Given the description of an element on the screen output the (x, y) to click on. 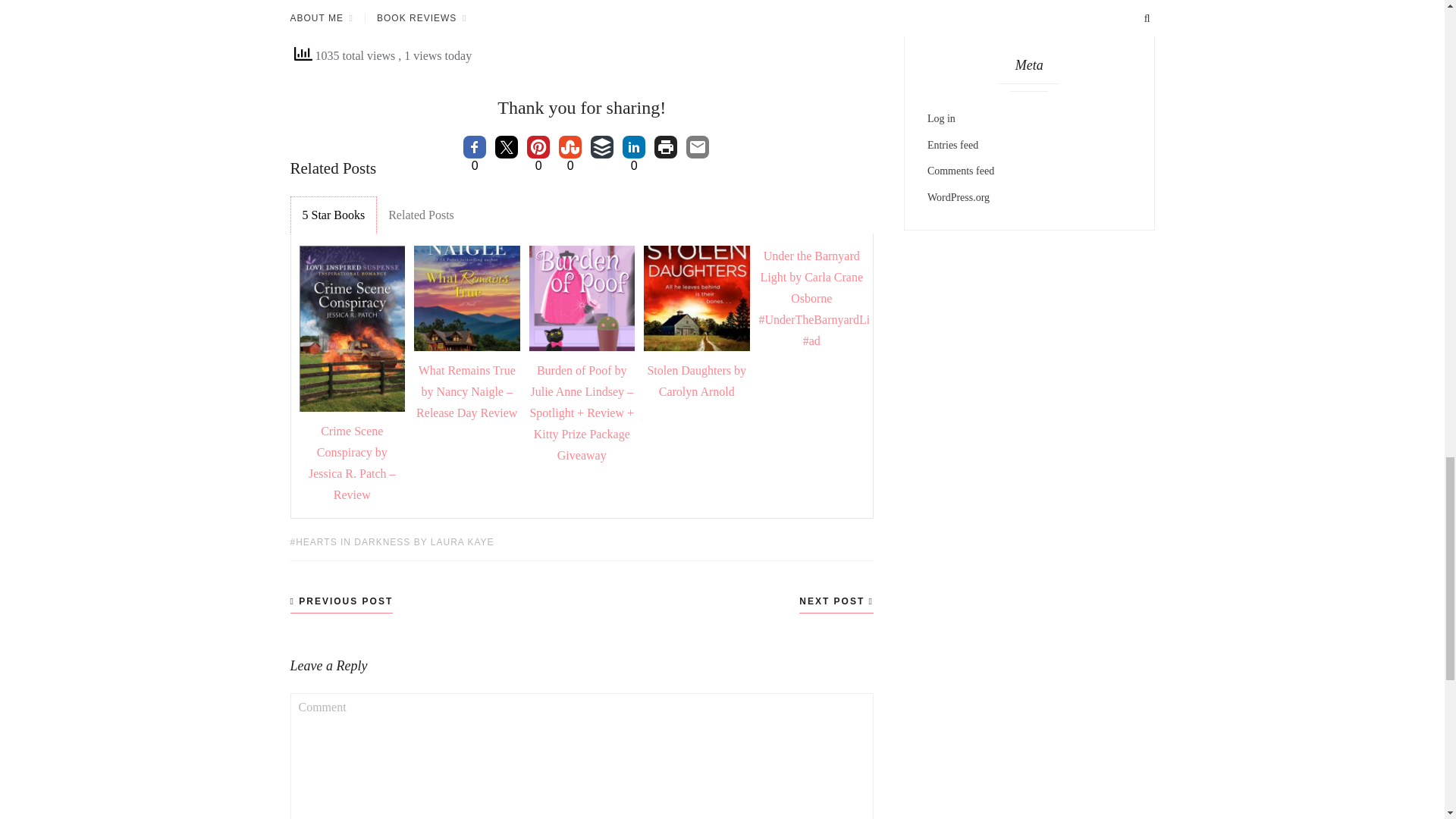
0 (538, 146)
Stolen Daughters by Carolyn Arnold (696, 381)
0 (634, 146)
0 (569, 146)
0 (474, 146)
5 Star Books (334, 215)
Related Posts (421, 215)
